Given the description of an element on the screen output the (x, y) to click on. 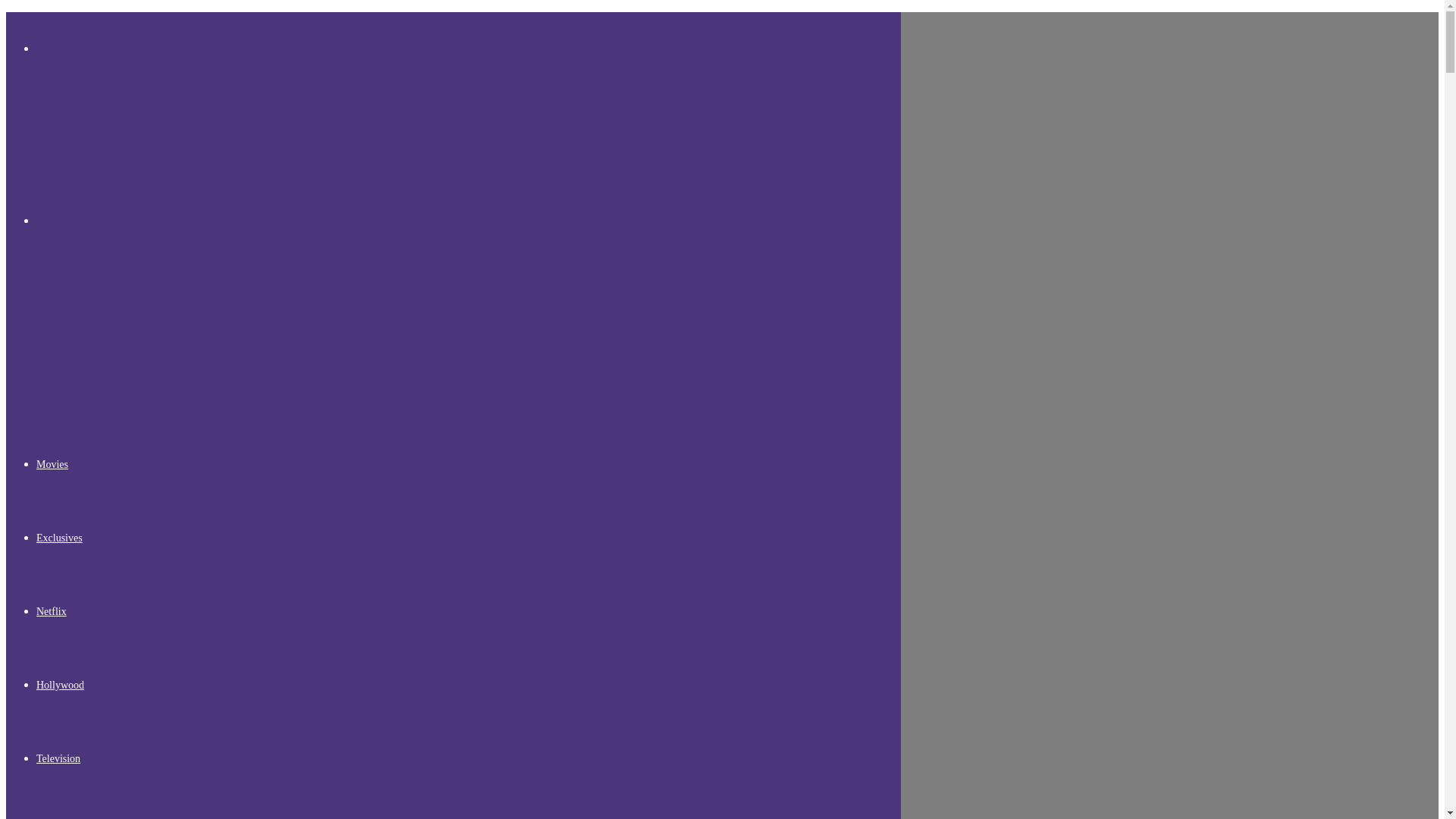
Television (58, 758)
Netflix (51, 611)
Movies (52, 464)
QuirkyByte (60, 134)
QuirkyByte (118, 378)
Hollywood (60, 685)
Exclusives (59, 537)
